Given the description of an element on the screen output the (x, y) to click on. 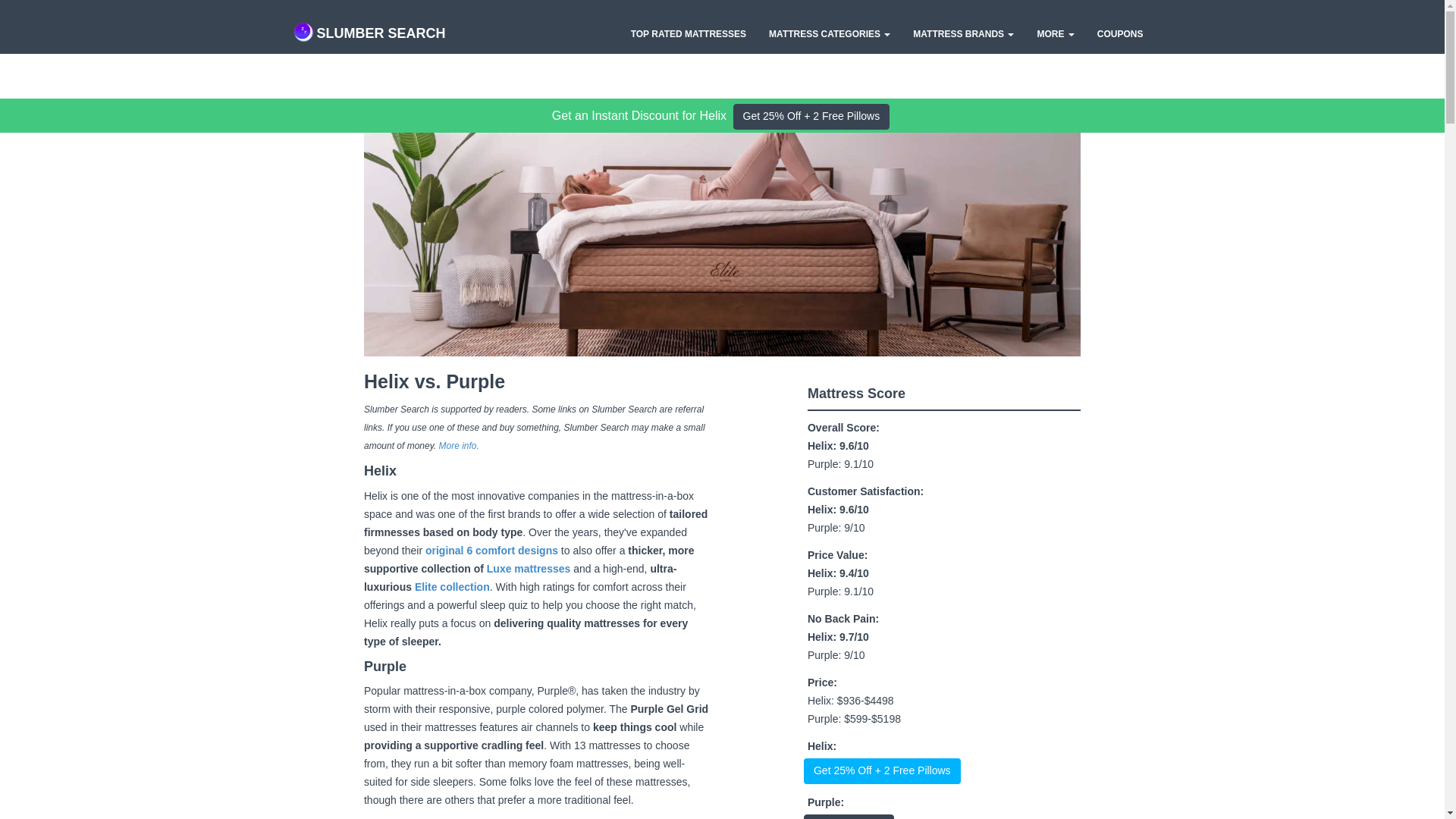
MATTRESS CATEGORIES (829, 34)
MATTRESS BRANDS (963, 34)
SLUMBER SEARCH (368, 26)
TOP RATED MATTRESSES (688, 34)
